Given the description of an element on the screen output the (x, y) to click on. 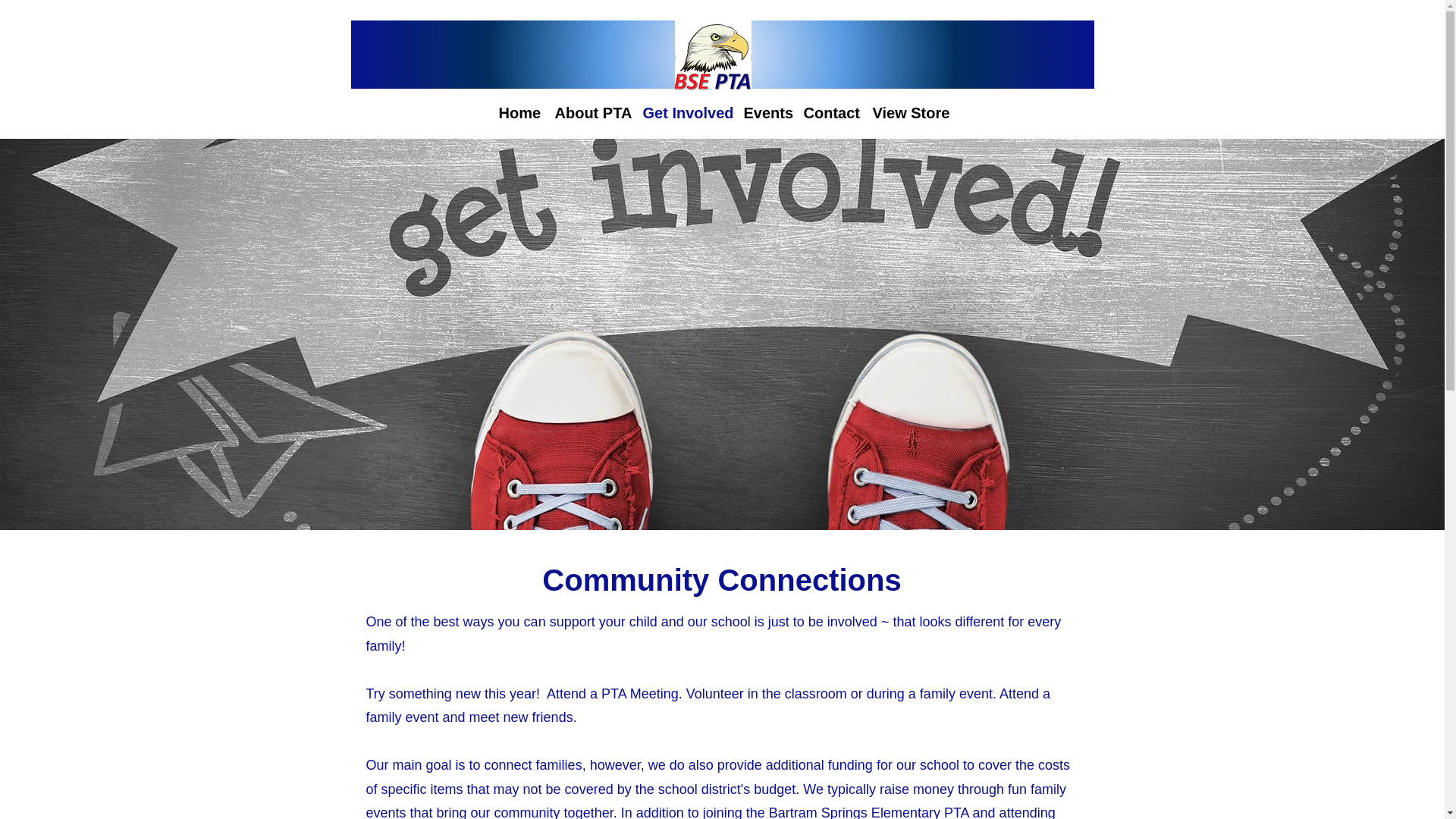
Events (764, 110)
Home (519, 110)
Get Involved (685, 110)
View Store (908, 110)
Contact (830, 110)
About PTA (590, 110)
